Given the description of an element on the screen output the (x, y) to click on. 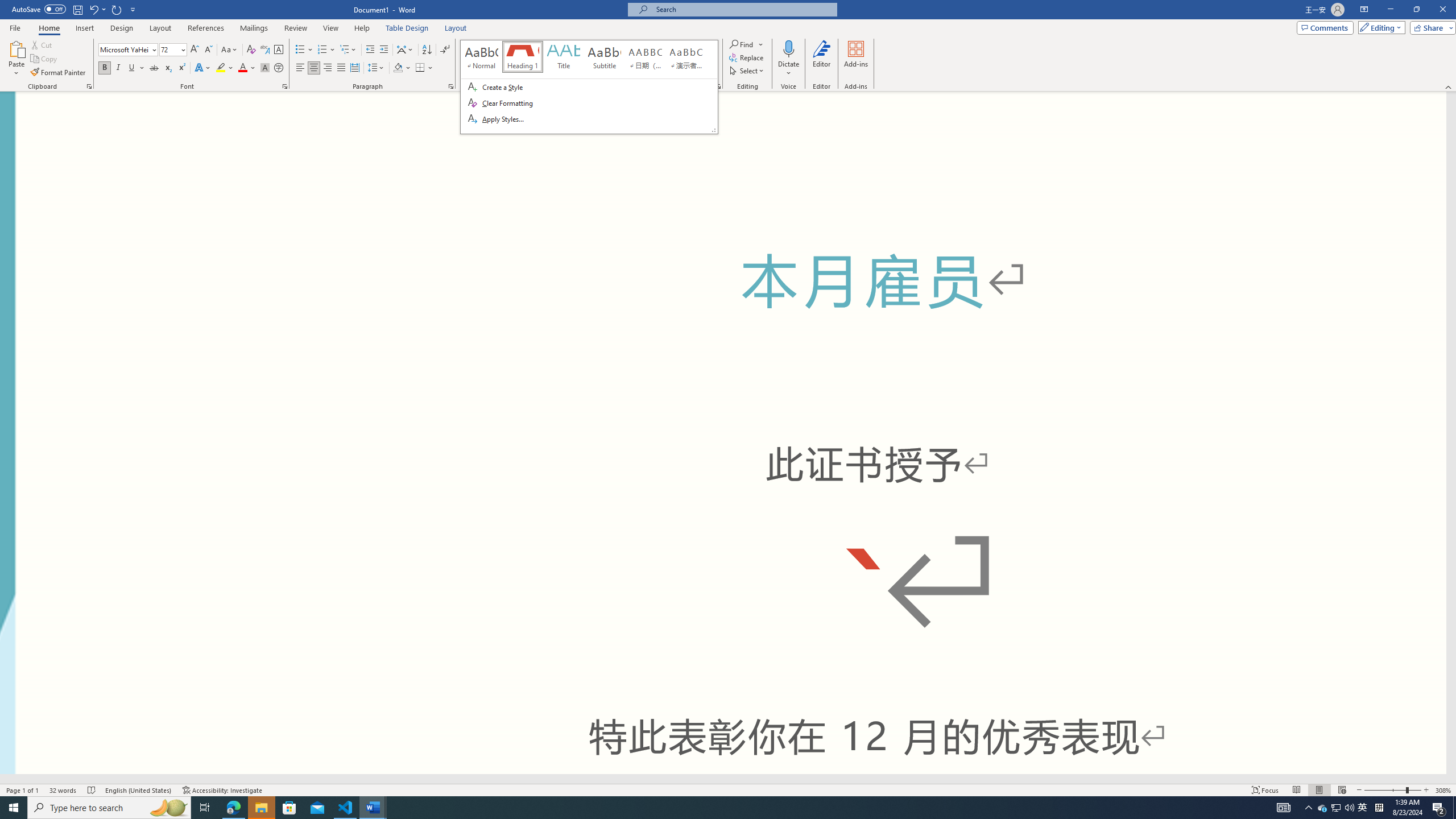
Table Design (407, 28)
Text Effects and Typography (202, 67)
Italic (118, 67)
Task View (204, 807)
Paragraph... (450, 85)
Repeat Doc Close (117, 9)
Word Count 32 words (63, 790)
Select (747, 69)
Text Highlight Color Yellow (220, 67)
Justify (340, 67)
